Given the description of an element on the screen output the (x, y) to click on. 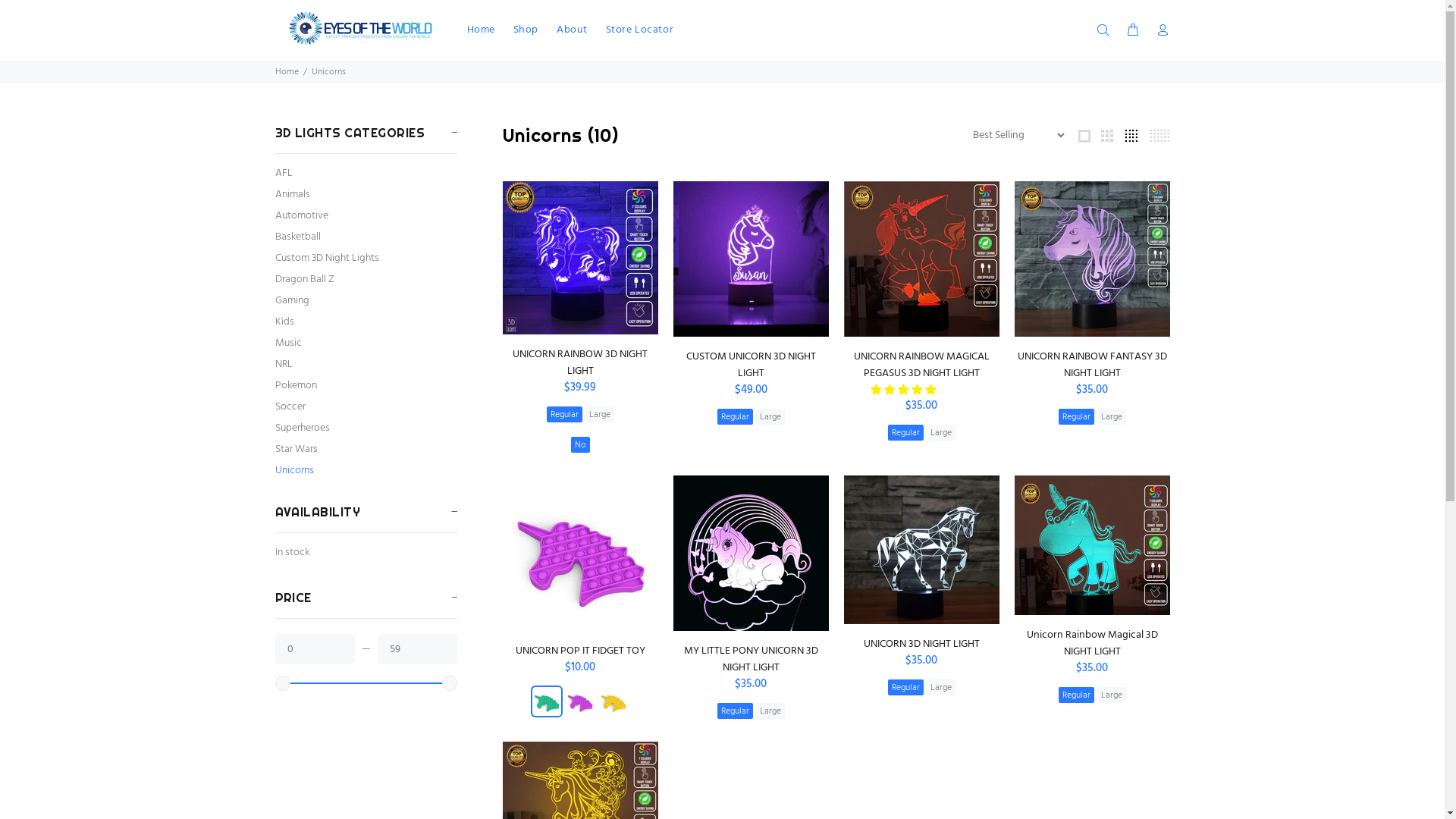
NRL Element type: text (365, 364)
Soccer Element type: text (365, 406)
Pokemon Element type: text (365, 385)
No Element type: text (579, 444)
Regular Element type: text (735, 416)
Automotive Element type: text (365, 215)
Music Element type: text (365, 343)
Large Element type: text (1110, 694)
Unicorn Rainbow Magical 3D NIGHT LIGHT Element type: text (1091, 643)
Gaming Element type: text (365, 300)
Large Element type: text (1110, 416)
Home Element type: text (286, 71)
Basketball Element type: text (365, 236)
Regular Element type: text (1076, 416)
Store Locator Element type: text (634, 29)
Custom 3D Night Lights Element type: text (365, 258)
UNICORN RAINBOW 3D NIGHT LIGHT Element type: text (579, 362)
Regular Element type: text (904, 432)
Regular Element type: text (904, 687)
UNICORN RAINBOW FANTASY 3D NIGHT LIGHT Element type: text (1092, 365)
Large Element type: text (599, 414)
Regular Element type: text (1076, 694)
Home Element type: text (481, 29)
About Element type: text (571, 29)
Large Element type: text (769, 416)
UNICORN RAINBOW MAGICAL PEGASUS 3D NIGHT LIGHT Element type: text (921, 365)
Regular Element type: text (563, 414)
Shop Element type: text (525, 29)
Large Element type: text (940, 687)
Kids Element type: text (365, 321)
Large Element type: text (769, 710)
Large Element type: text (940, 432)
Star Wars Element type: text (365, 449)
Animals Element type: text (365, 194)
CUSTOM UNICORN 3D NIGHT LIGHT Element type: text (750, 365)
Regular Element type: text (735, 710)
In stock Element type: text (365, 552)
MY LITTLE PONY UNICORN 3D NIGHT LIGHT Element type: text (751, 659)
Superheroes Element type: text (365, 428)
Unicorns Element type: text (365, 468)
UNICORN 3D NIGHT LIGHT Element type: text (920, 643)
UNICORN POP IT FIDGET TOY Element type: text (580, 650)
Dragon Ball Z Element type: text (365, 279)
AFL Element type: text (365, 173)
